Given the description of an element on the screen output the (x, y) to click on. 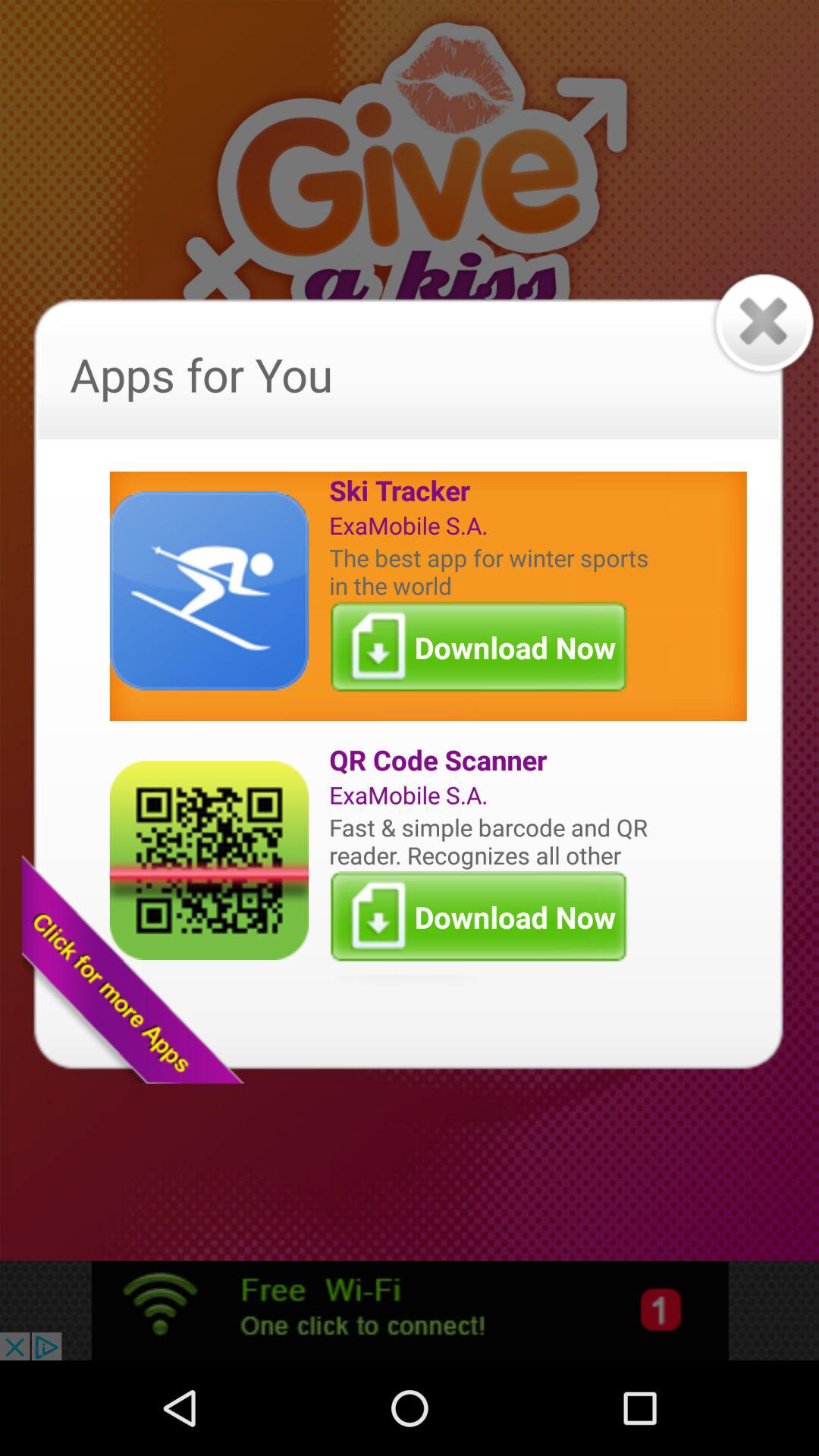
open item above the download now icon (492, 841)
